Given the description of an element on the screen output the (x, y) to click on. 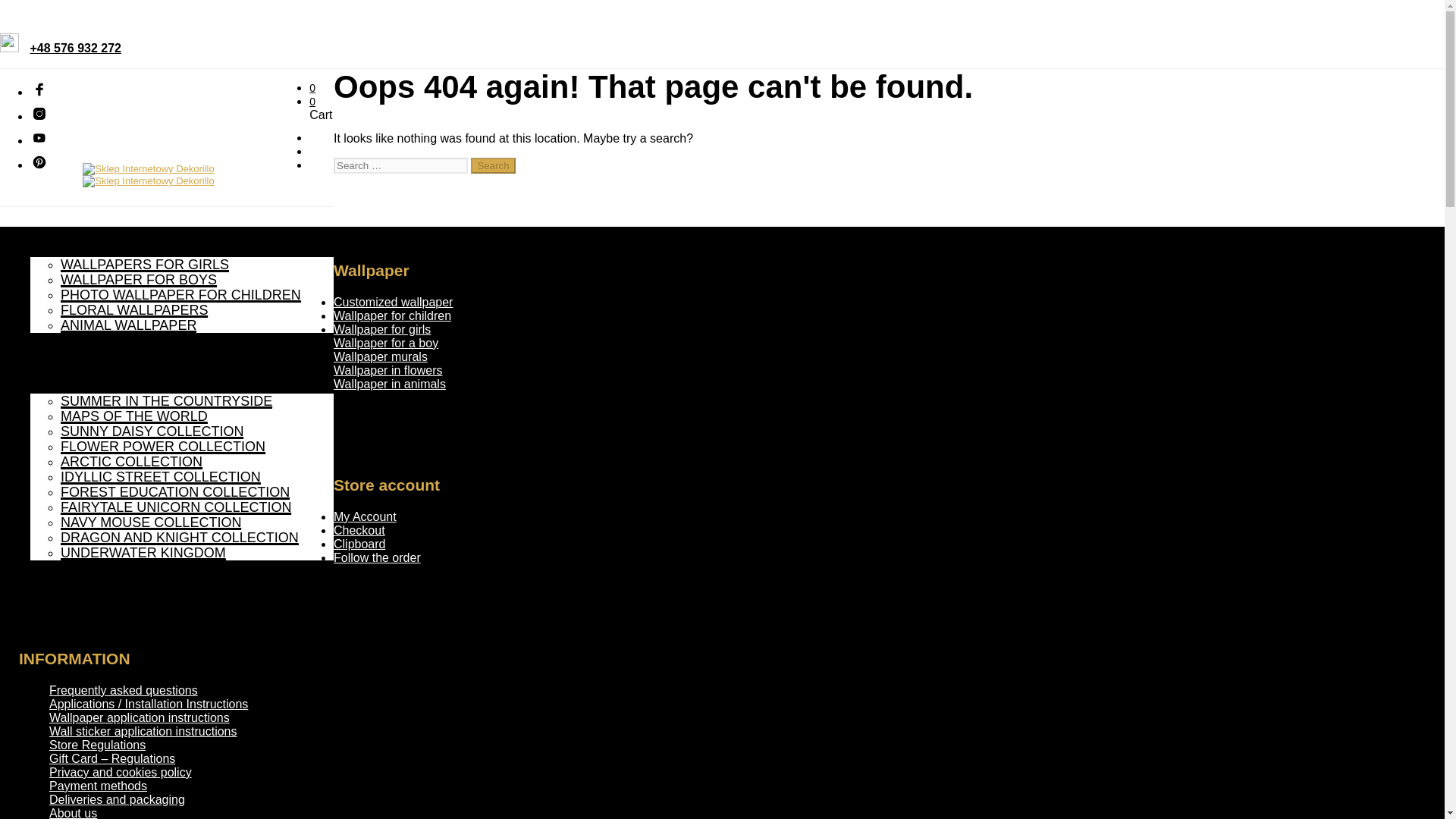
Search (492, 165)
Blog (44, 567)
FLORAL WALLPAPERS (134, 309)
DRAGON AND KNIGHT COLLECTION (179, 537)
Wallpaper samples (87, 340)
Posters (53, 370)
FAIRYTALE UNICORN COLLECTION (176, 507)
ANIMAL WALLPAPER (128, 324)
Wall stickers (68, 355)
MAPS OF THE WORLD (134, 416)
